Given the description of an element on the screen output the (x, y) to click on. 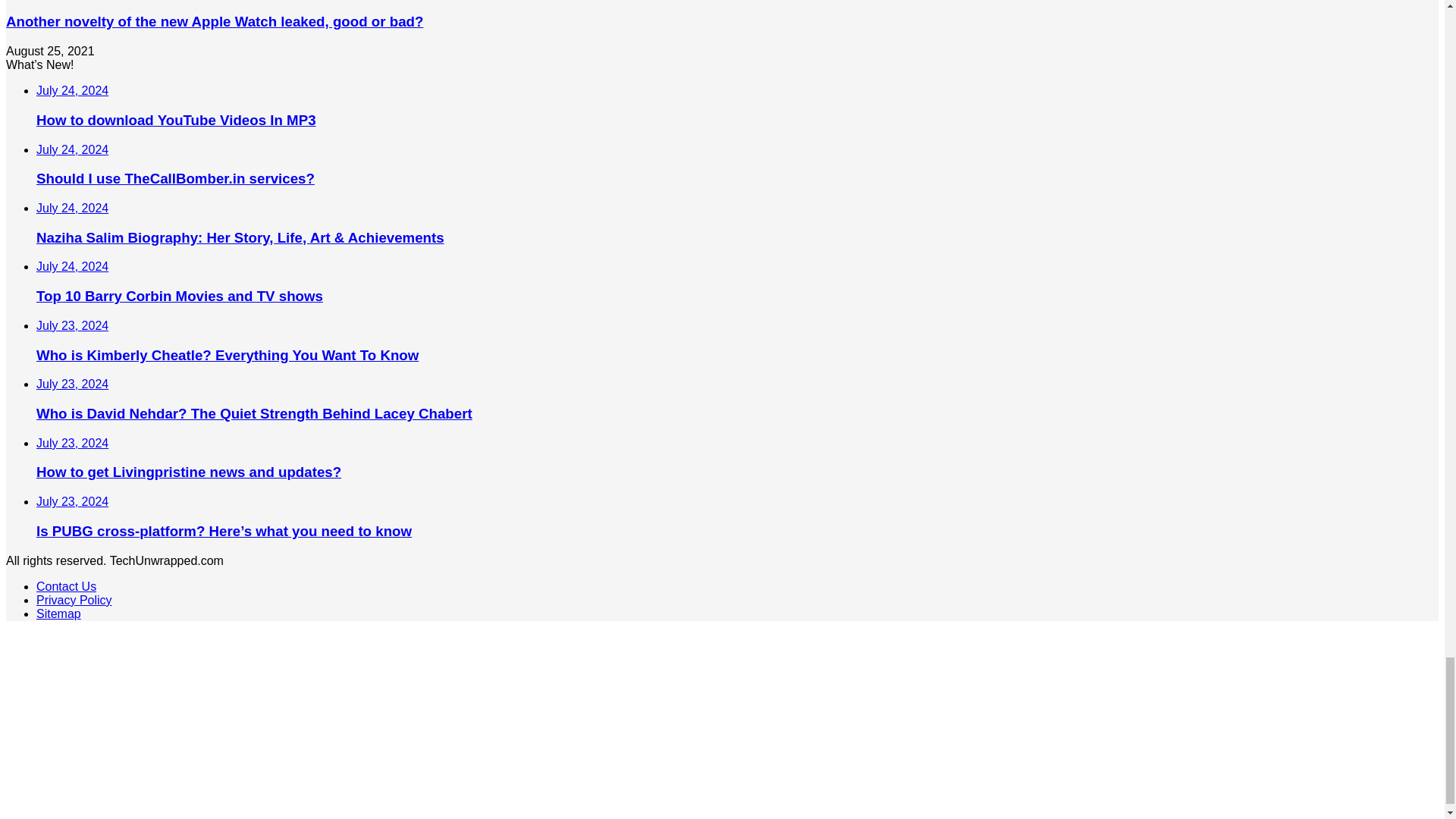
Privacy Policy (74, 599)
Another novelty of the new Apple Watch leaked, good or bad? (214, 21)
Contact Us (66, 585)
Sitemap (58, 613)
